Given the description of an element on the screen output the (x, y) to click on. 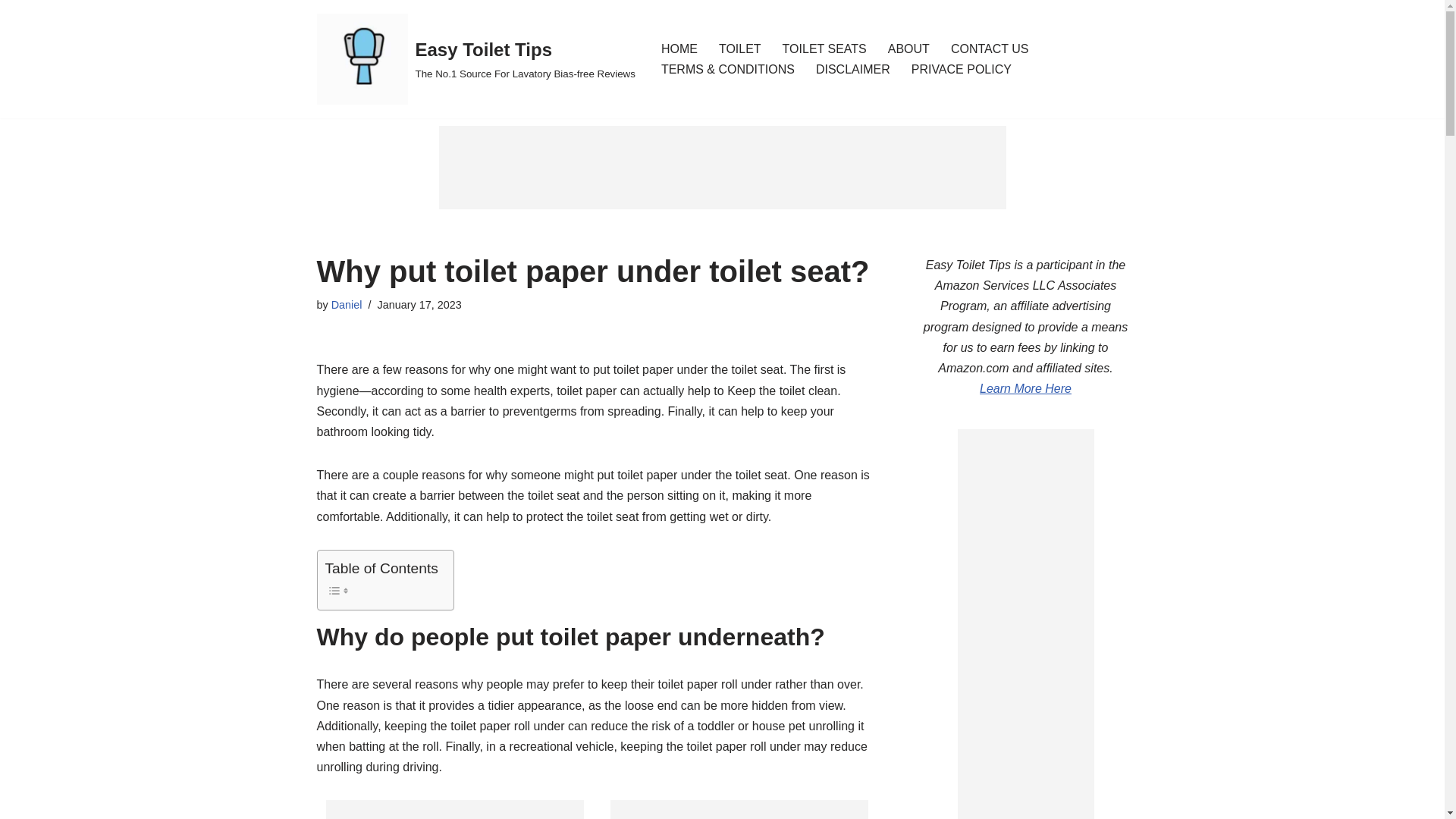
Skip to content (11, 31)
TOILET (740, 48)
PRIVACE POLICY (961, 68)
DISCLAIMER (852, 68)
Daniel (346, 304)
CONTACT US (989, 48)
Learn More Here (1025, 388)
TOILET SEATS (824, 48)
Posts by Daniel (346, 304)
ABOUT (909, 48)
HOME (679, 48)
